Given the description of an element on the screen output the (x, y) to click on. 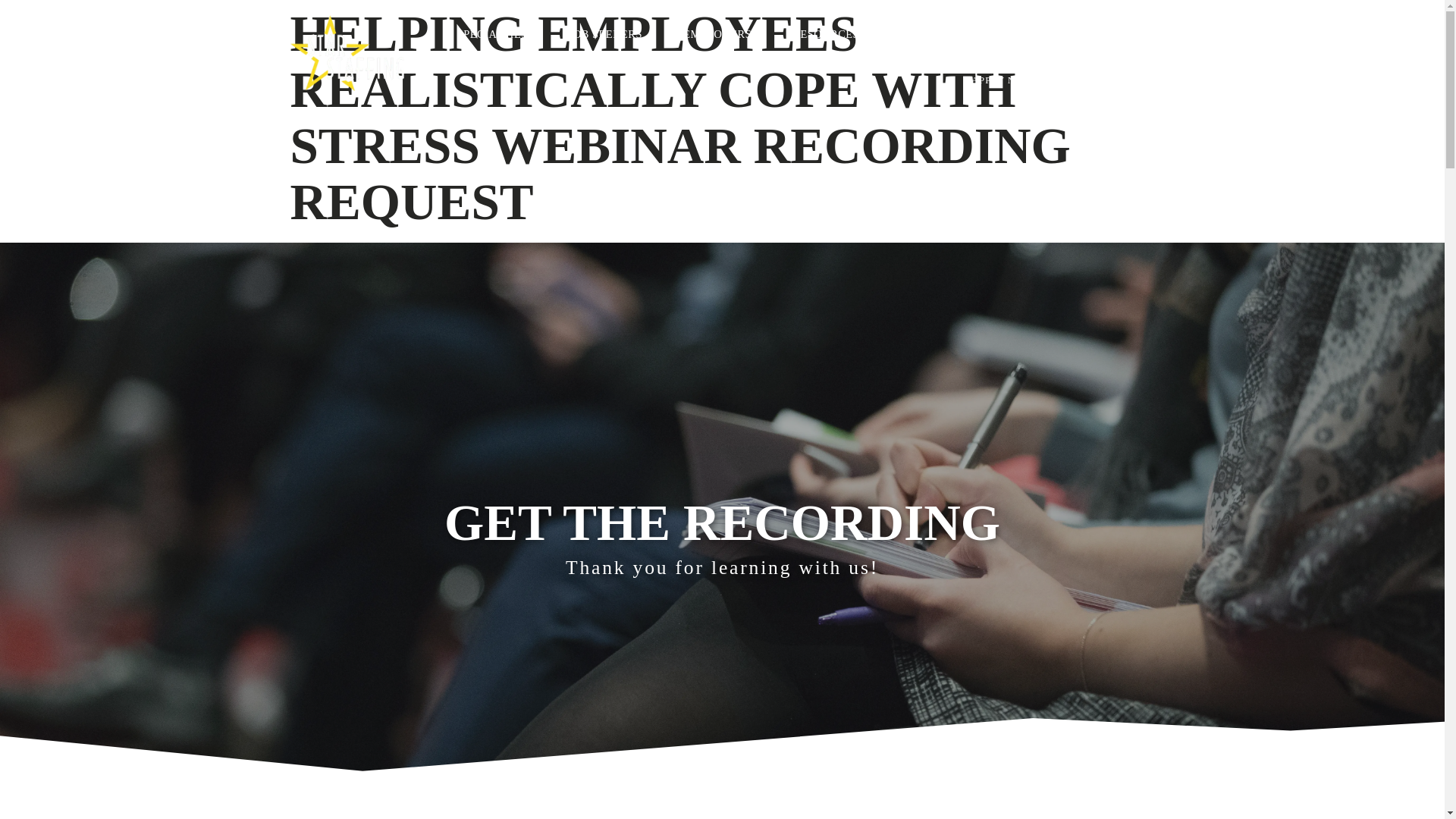
LOCATIONS (937, 32)
EMPLOYERS (722, 28)
ABOUT (1030, 34)
RESOURCES (831, 30)
JOB SEEKERS (610, 17)
